Given the description of an element on the screen output the (x, y) to click on. 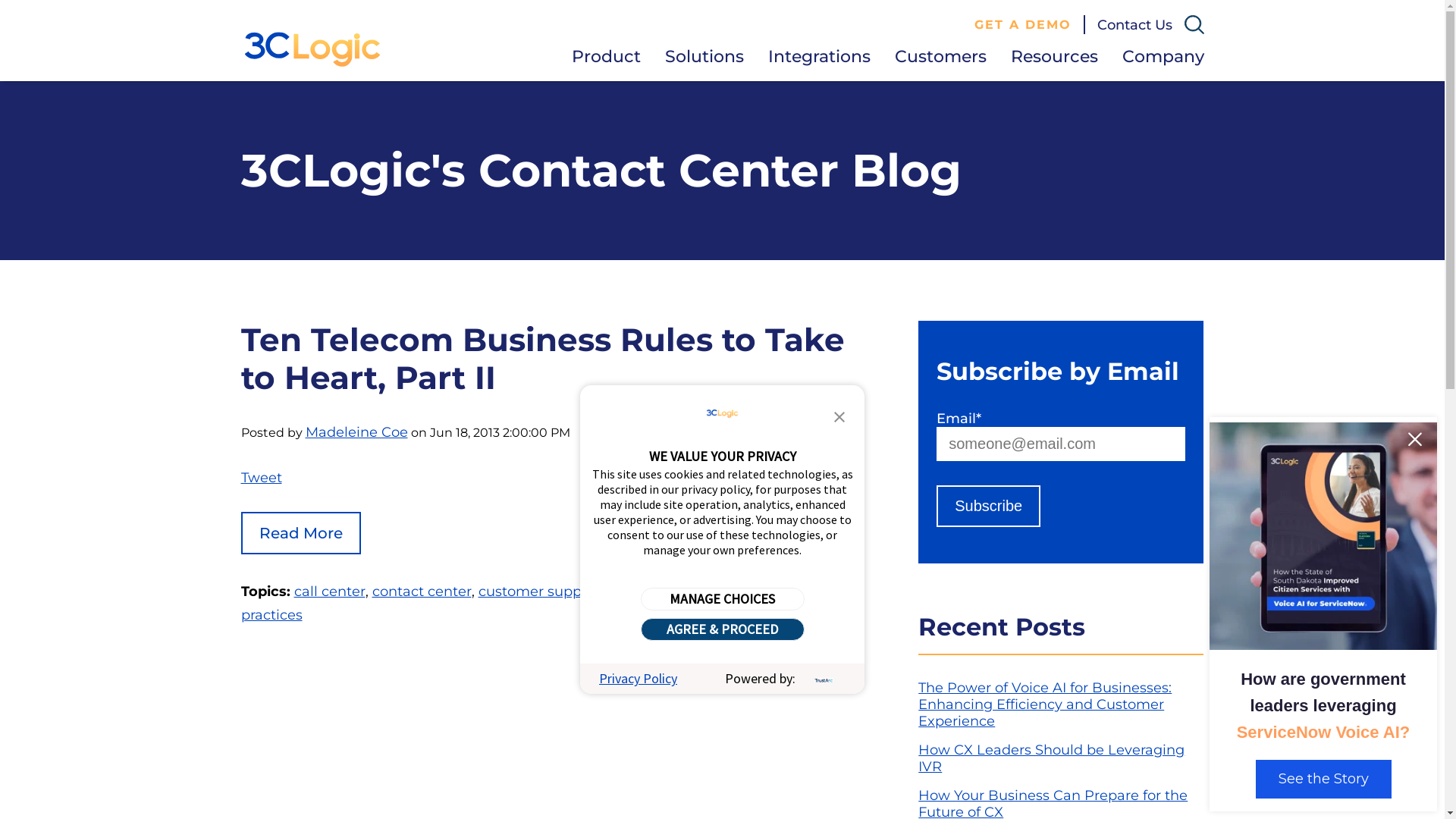
Customers Element type: text (940, 56)
lead tracking Element type: text (651, 591)
call center Element type: text (329, 591)
Product Element type: text (605, 56)
AGREE & PROCEED Element type: text (721, 629)
customer support Element type: text (538, 591)
Company Element type: text (1163, 56)
Integrations Element type: text (818, 56)
Resources Element type: text (1053, 56)
Tweet Element type: text (261, 477)
Subscribe Element type: text (988, 506)
Madeleine Coe Element type: text (355, 431)
Privacy Policy Element type: text (637, 678)
best business practices Element type: text (519, 603)
Solutions Element type: text (703, 56)
How CX Leaders Should be Leveraging IVR Element type: text (1051, 758)
MANAGE CHOICES Element type: text (721, 598)
Ten Telecom Business Rules to Take to Heart, Part II Element type: text (542, 358)
Read More Element type: text (300, 532)
contact center Element type: text (420, 591)
GET A DEMO Element type: text (1022, 24)
Contact Us Element type: text (1134, 24)
